Given the description of an element on the screen output the (x, y) to click on. 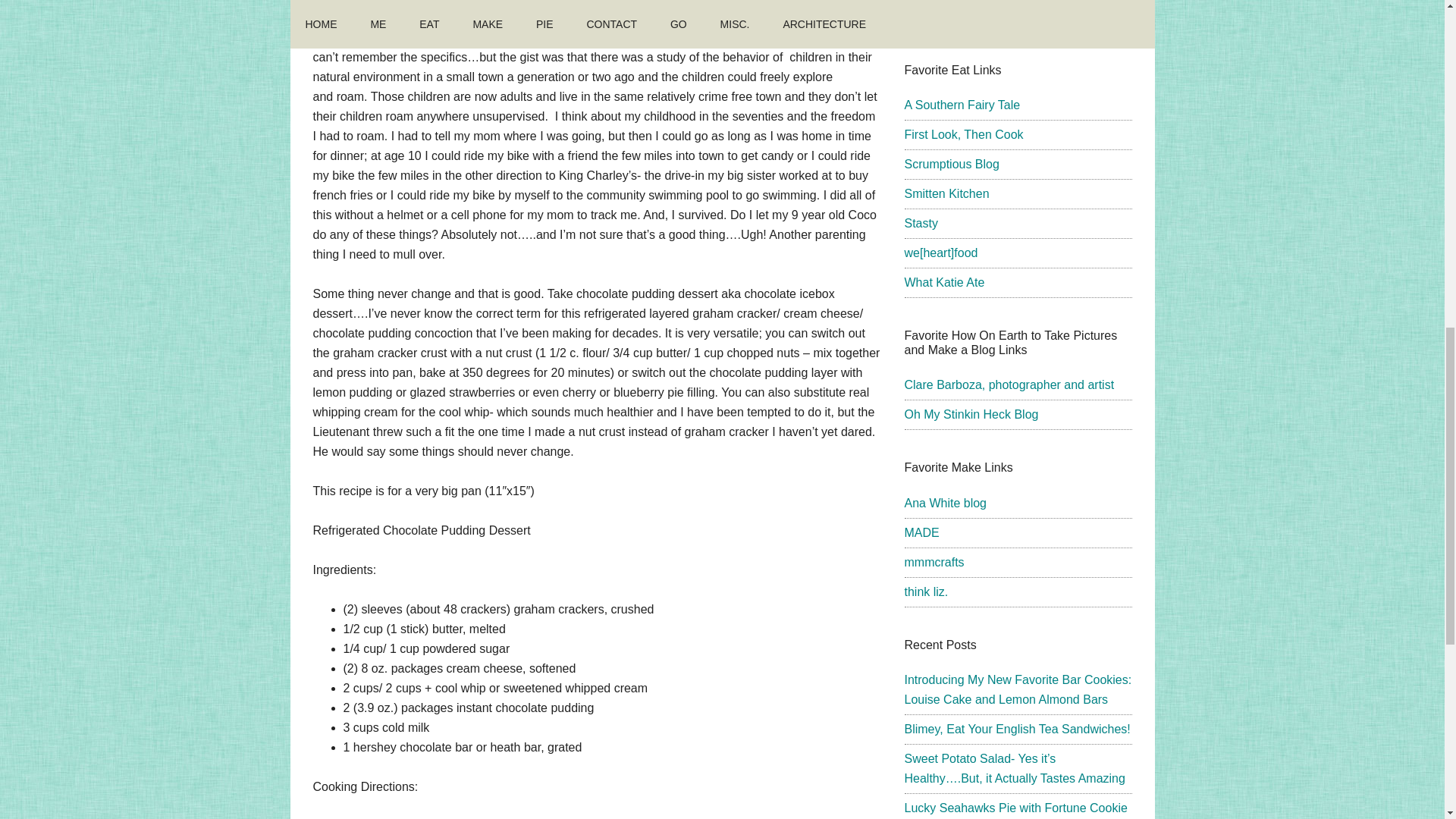
Smitten Kitchen (946, 193)
Ana White blog (945, 502)
First Look, Then Cook (963, 133)
What Katie Ate (944, 282)
fabulous food photographer (1008, 384)
This guy does is all (948, 16)
A Southern Fairy Tale (962, 104)
mmmcrafts (933, 562)
Oh My Stinkin Heck Blog (971, 413)
Sweet Paul Blog (948, 16)
wonderful recipes (946, 193)
Scrumptious Blog (951, 164)
Blimey, Eat Your English Tea Sandwiches! (1016, 728)
great Seattle food blog (963, 133)
